Given the description of an element on the screen output the (x, y) to click on. 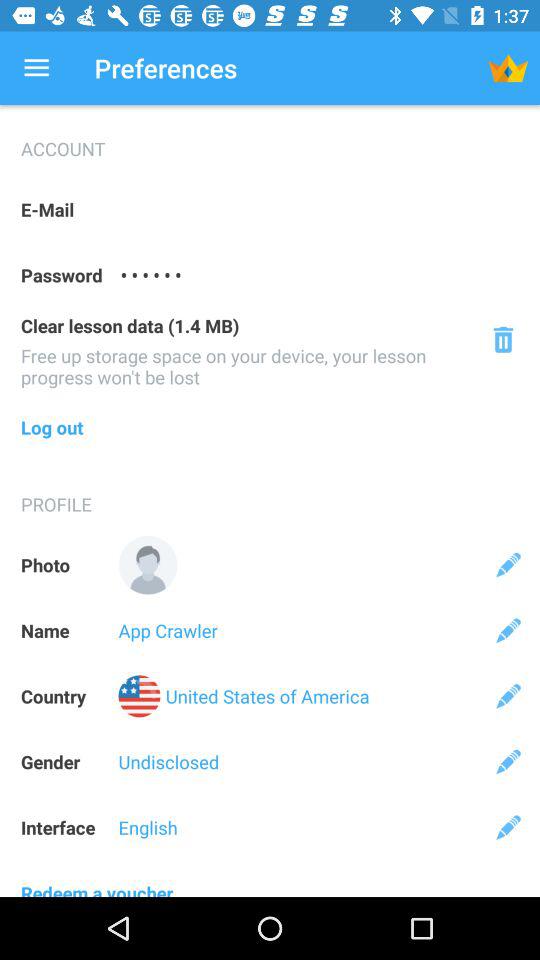
edit country (508, 696)
